Given the description of an element on the screen output the (x, y) to click on. 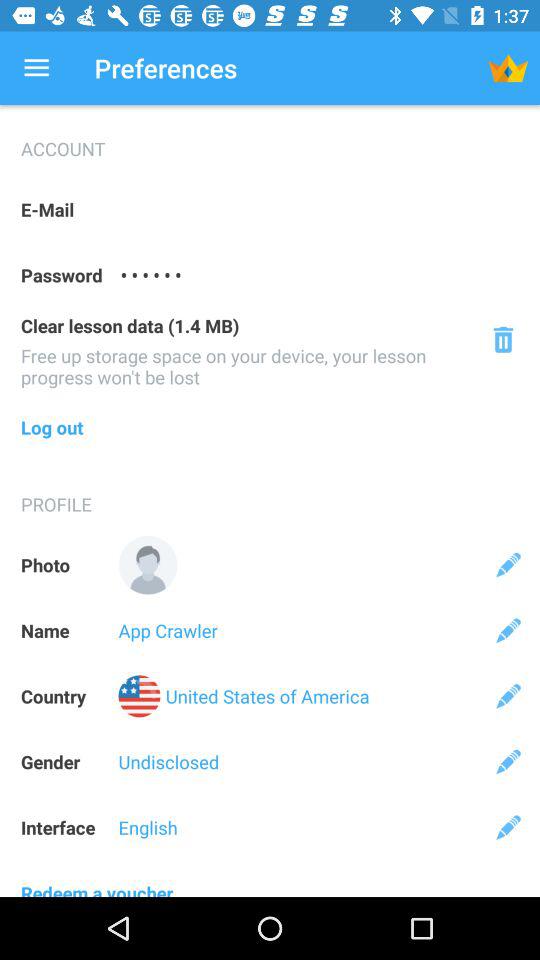
edit country (508, 696)
